Given the description of an element on the screen output the (x, y) to click on. 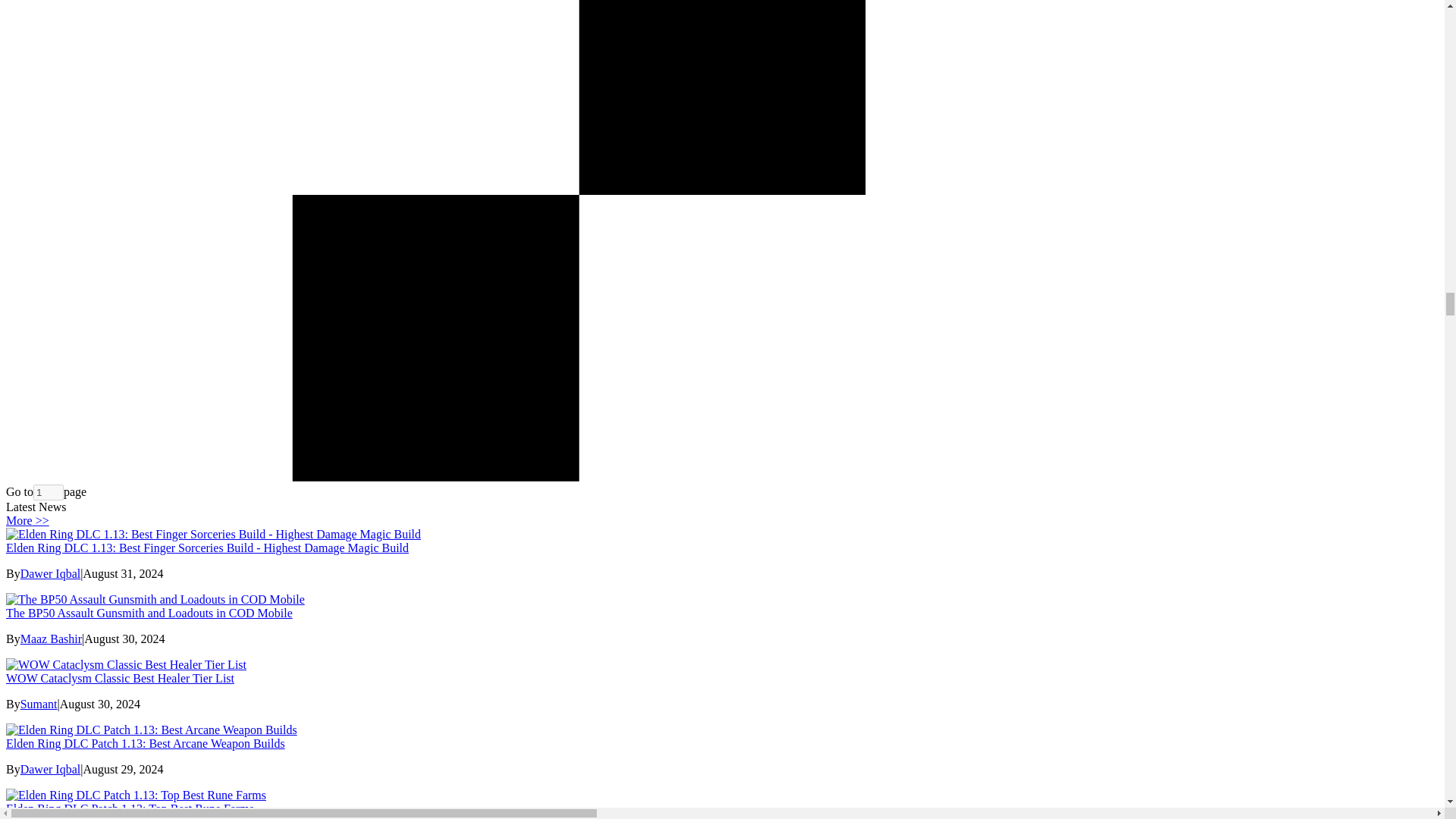
Dawer Iqbal (50, 573)
WOW Cataclysm Classic Best Healer Tier List (119, 677)
1 (48, 492)
Sumant (39, 703)
The BP50 Assault Gunsmith and Loadouts in COD Mobile (148, 612)
Maaz Bashir (50, 638)
